Given the description of an element on the screen output the (x, y) to click on. 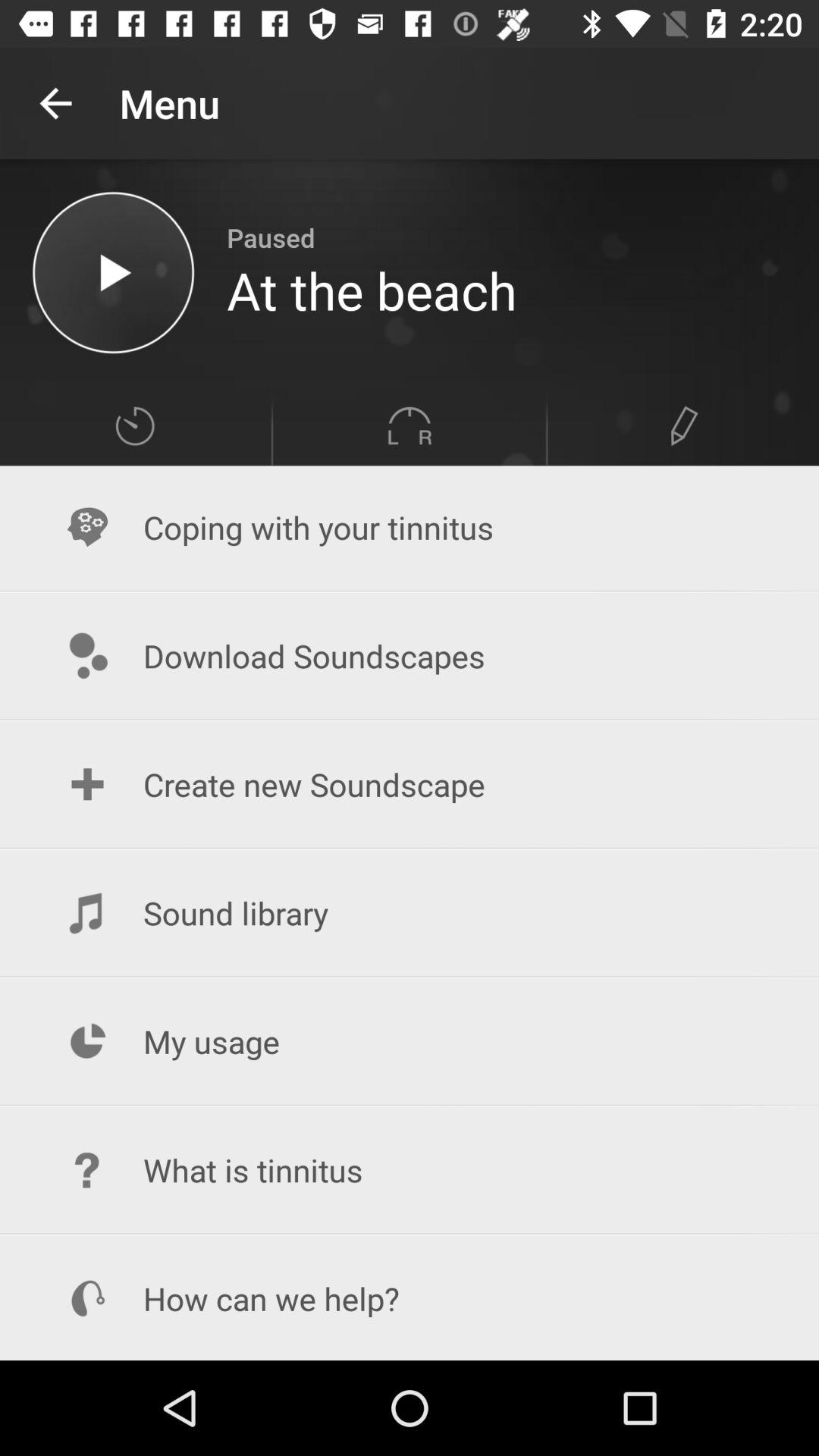
open the icon below the at the beach (684, 425)
